Given the description of an element on the screen output the (x, y) to click on. 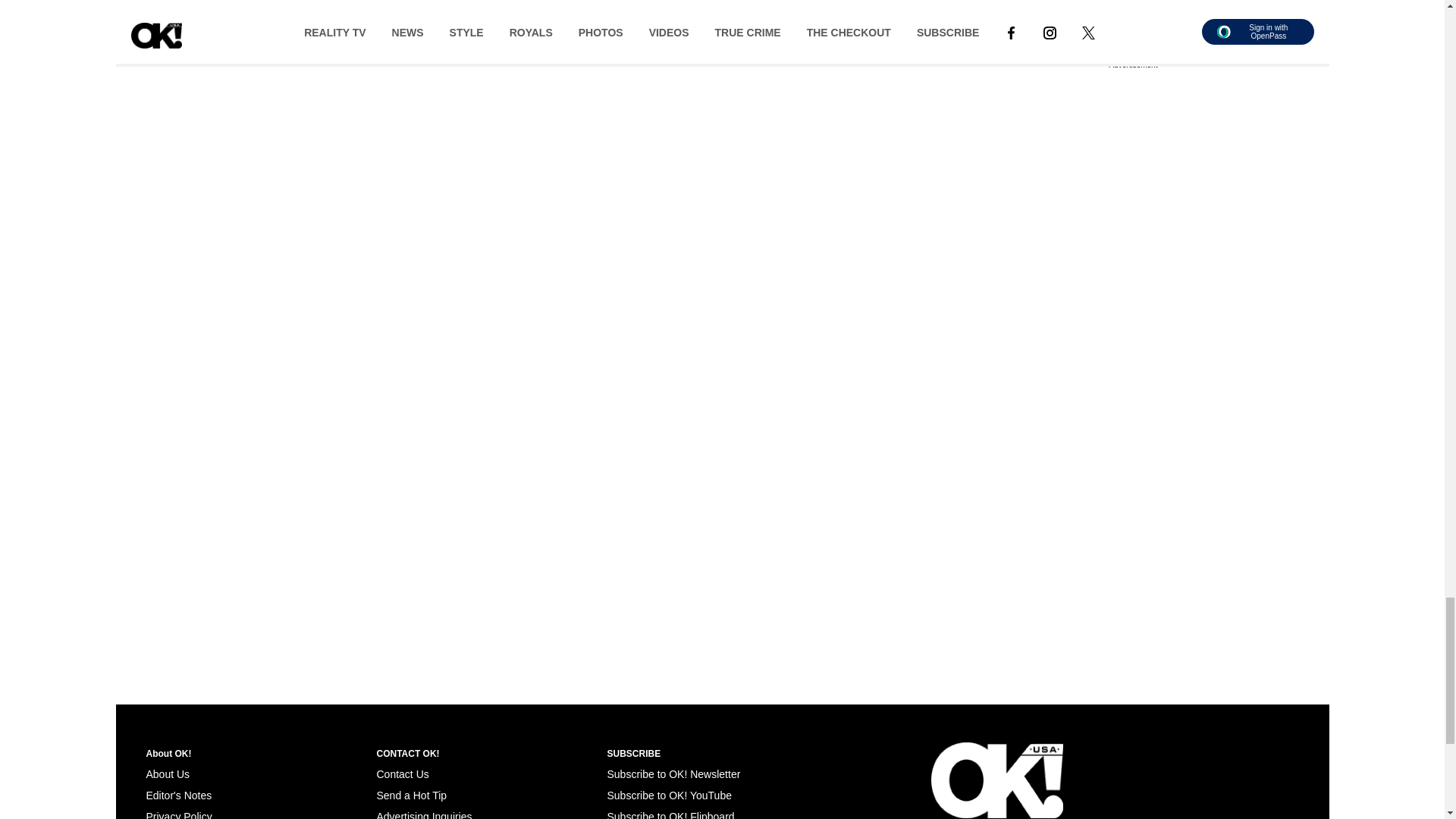
Privacy Policy (178, 814)
Contact Us (401, 774)
About Us (167, 774)
Send a Hot Tip (410, 795)
Advertising Inquiries (423, 814)
Editor's Notes (178, 795)
